Given the description of an element on the screen output the (x, y) to click on. 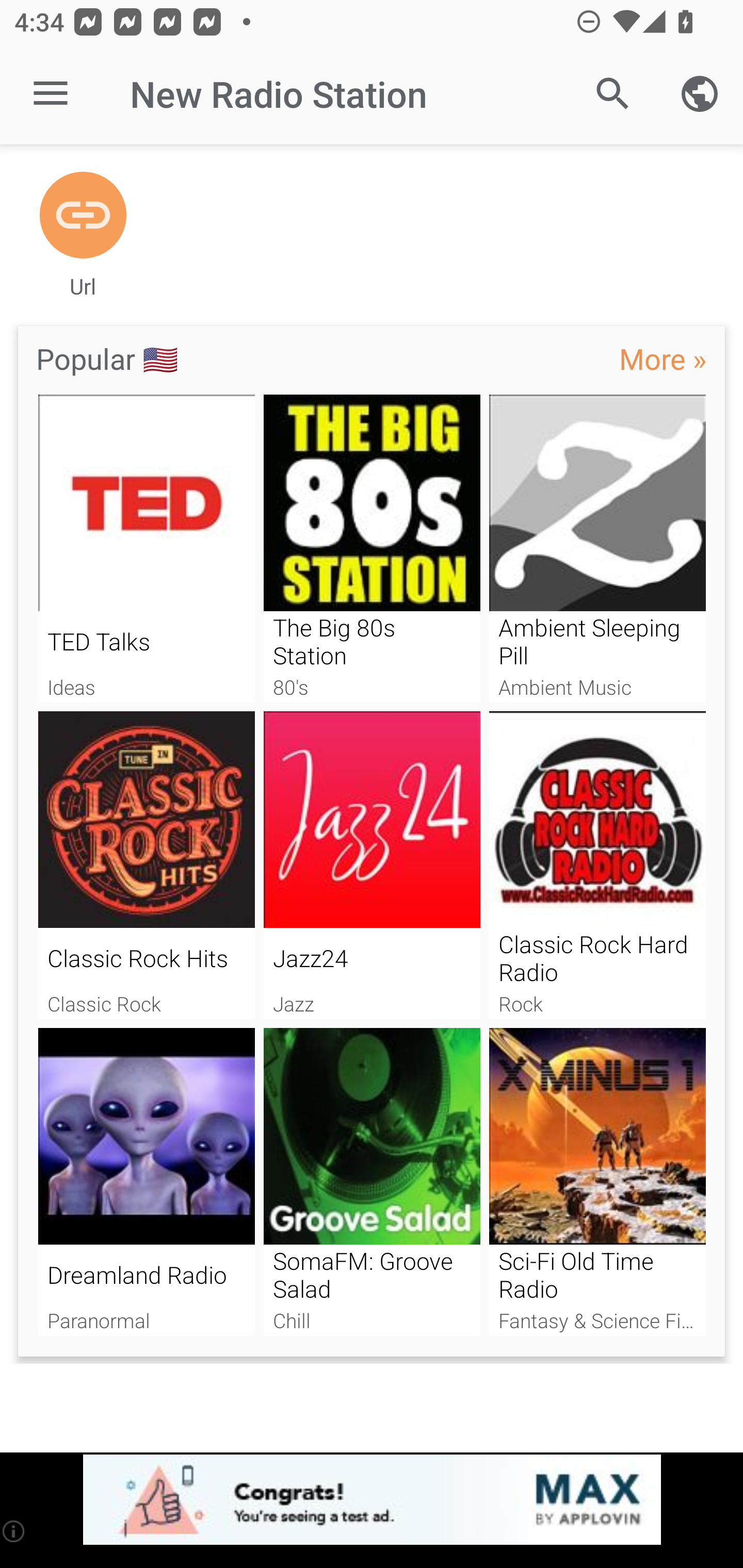
Open navigation sidebar (50, 93)
Search (612, 93)
Podcast languages (699, 93)
RSS (82, 215)
More » (662, 357)
TED Talks Ideas (145, 548)
The Big 80s Station 80's (371, 548)
Ambient Sleeping Pill Ambient Music (596, 548)
Classic Rock Hits Classic Rock (145, 865)
Jazz24 Jazz (371, 865)
Classic Rock Hard Radio Rock (596, 865)
Dreamland Radio Paranormal (145, 1181)
SomaFM: Groove Salad Chill (371, 1181)
app-monetization (371, 1500)
(i) (14, 1531)
